Given the description of an element on the screen output the (x, y) to click on. 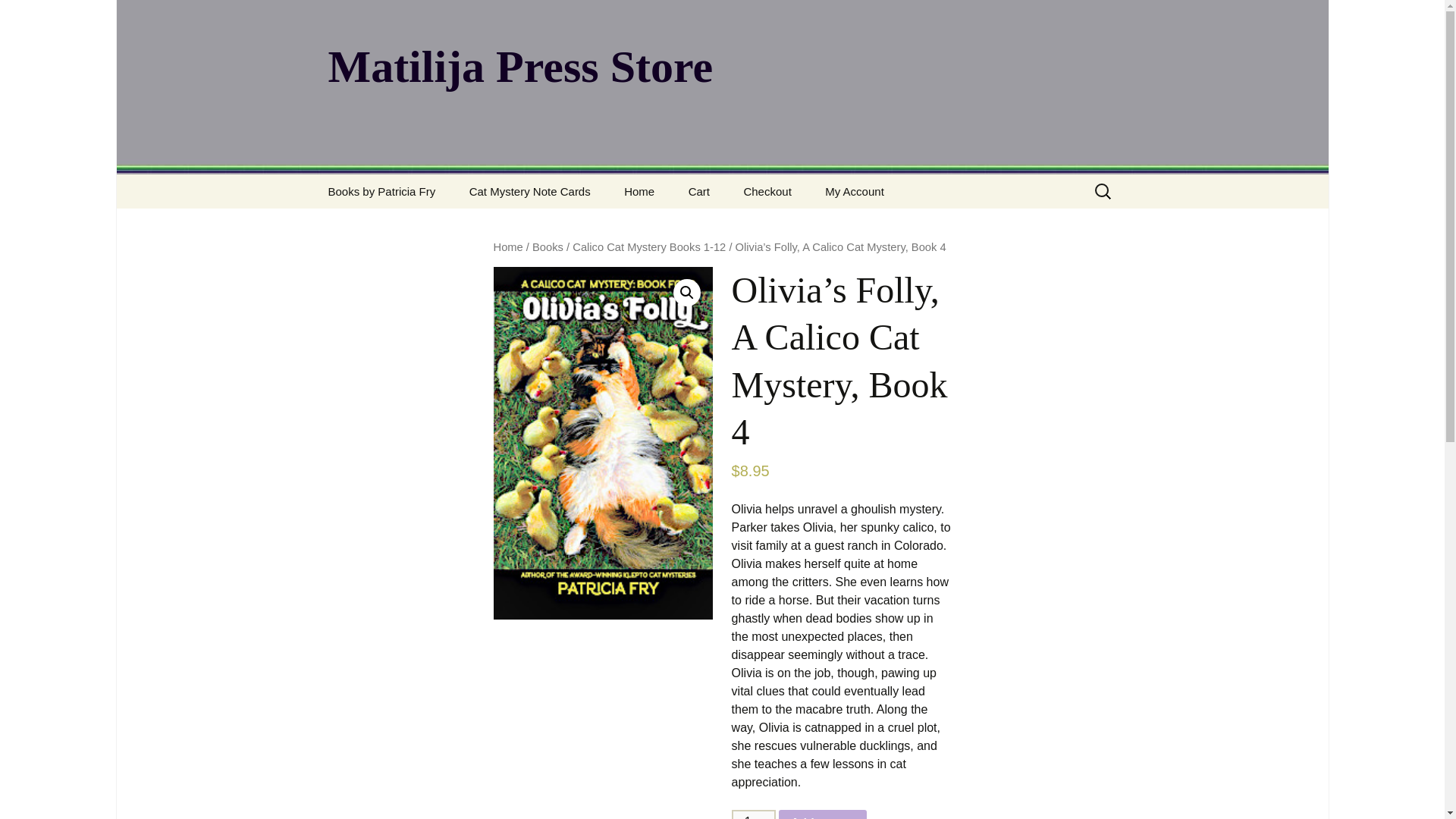
Cart (698, 191)
Books (547, 246)
Home (507, 246)
Checkout (767, 191)
Add to cart (822, 814)
Search (34, 15)
Calico Cat Mystery Books 1-12 (648, 246)
Cat Mystery Note Cards (529, 191)
1 (754, 814)
Calico Cat Mystery Series (388, 230)
Books by Patricia Fry (381, 191)
Home (638, 191)
My Account (854, 191)
